Given the description of an element on the screen output the (x, y) to click on. 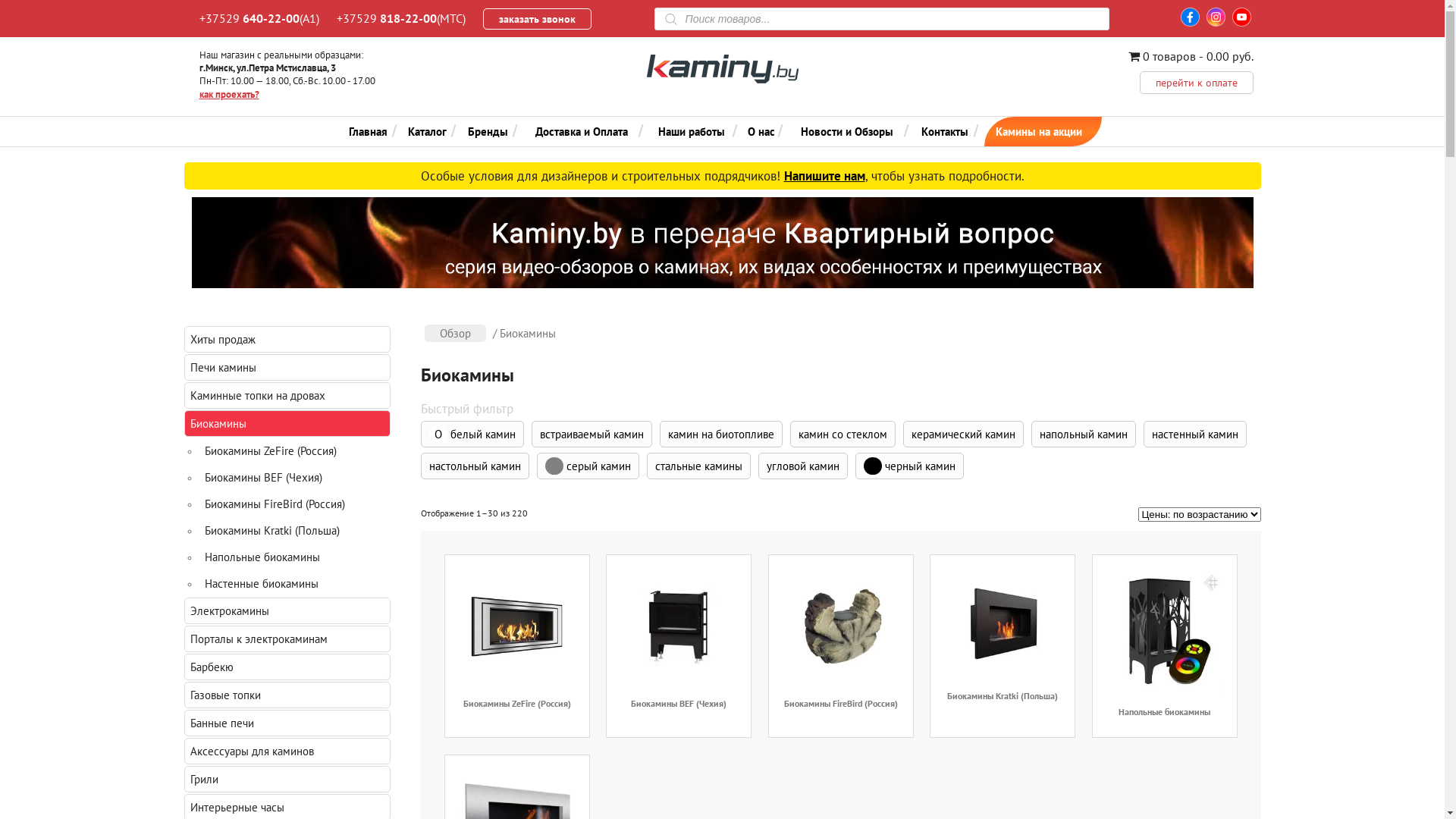
+37529 640-22-00(A1) Element type: text (258, 17)
